Given the description of an element on the screen output the (x, y) to click on. 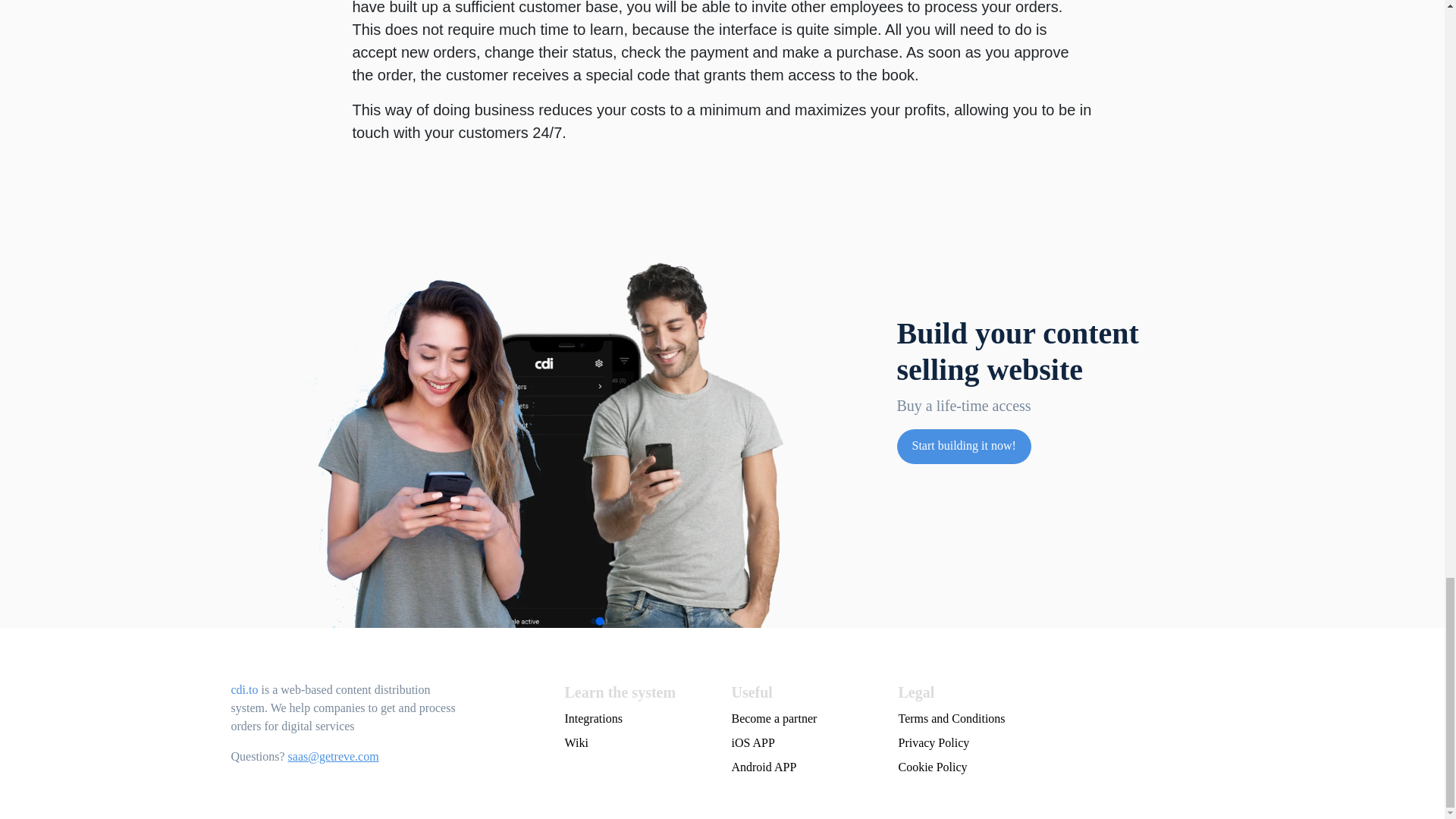
Become a partner (804, 719)
Start building it now! (963, 446)
Start building it now! (963, 445)
Cookie Policy  (1055, 767)
Terms and Conditions (1055, 719)
Terms and Conditions (1055, 719)
Integrations (638, 719)
iOS APP (804, 742)
Android APP (804, 767)
Privacy Policy  (1055, 742)
